Given the description of an element on the screen output the (x, y) to click on. 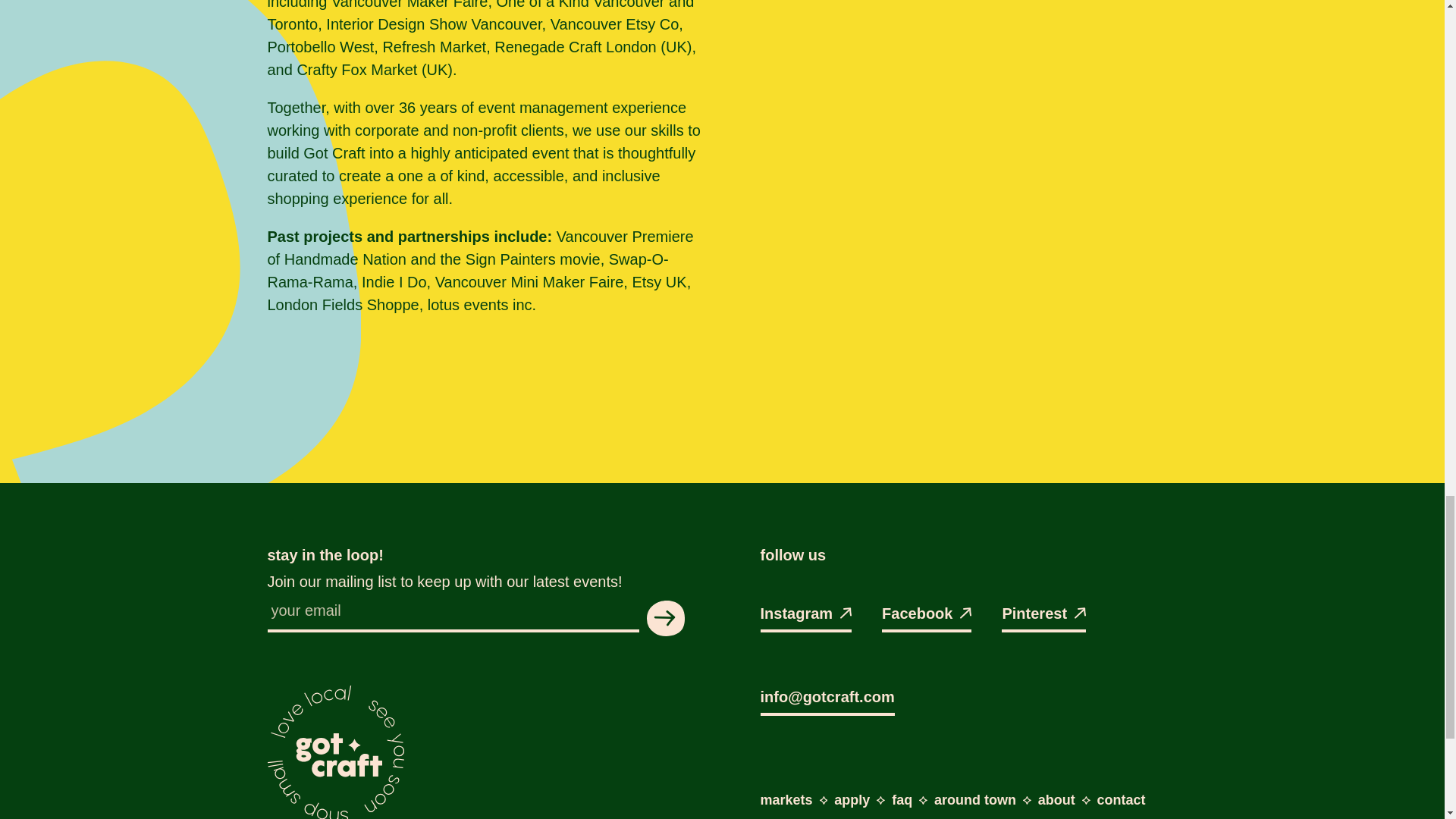
Facebook (926, 616)
about (1056, 799)
contact (1121, 799)
apply (851, 799)
around town (975, 799)
Instagram (805, 616)
Pinterest (1043, 616)
faq (901, 799)
markets (786, 799)
